Given the description of an element on the screen output the (x, y) to click on. 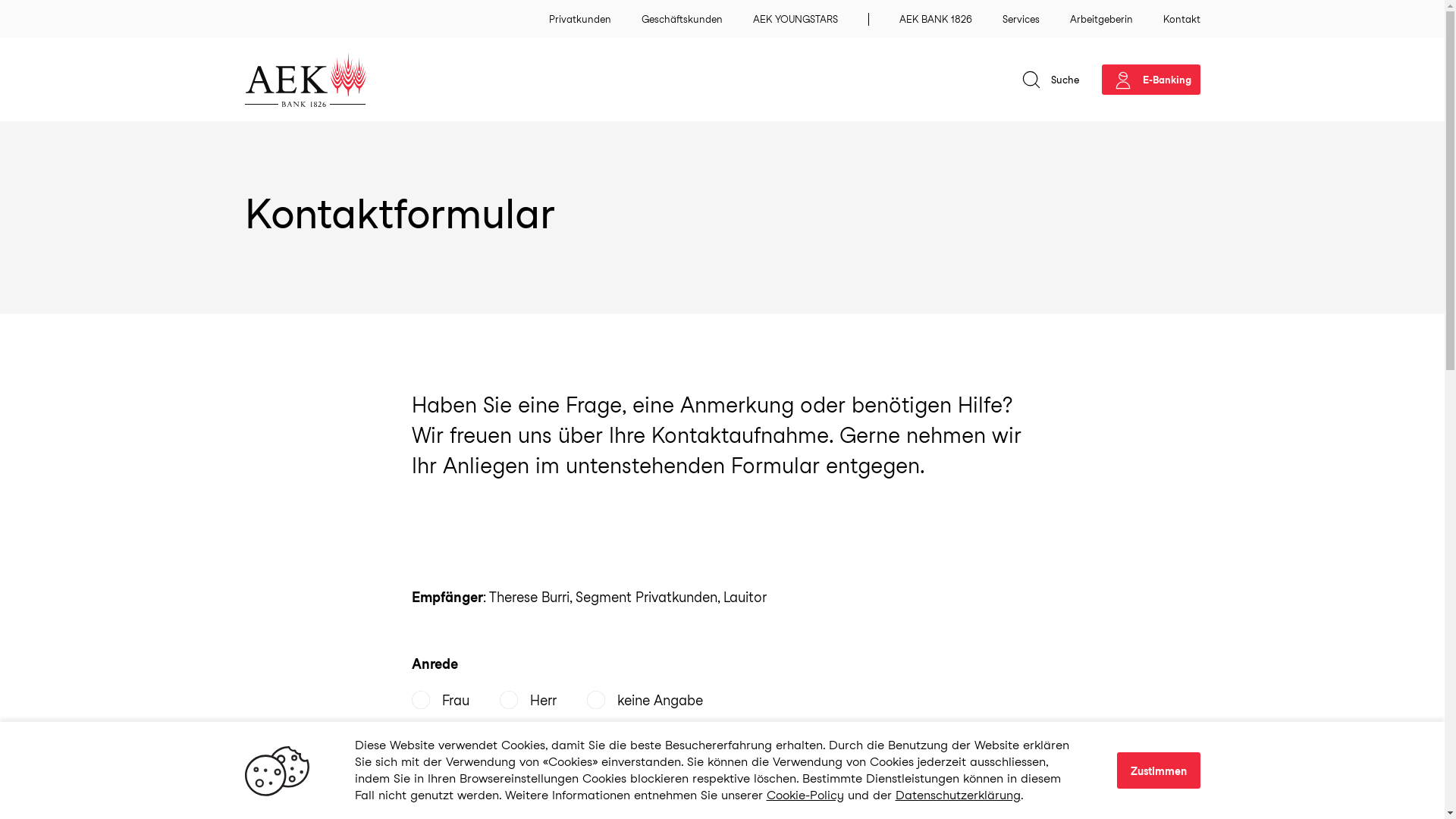
Services Element type: text (1020, 19)
AEK BANK 1826 Element type: text (935, 19)
Kontakt Element type: text (1181, 19)
Zustimmen Element type: text (1157, 770)
Privatkunden Element type: text (580, 19)
Suche Element type: text (1049, 79)
E-Banking Element type: text (1150, 79)
AEK YOUNGSTARS Element type: text (794, 19)
Cookie-Policy Element type: text (804, 794)
Arbeitgeberin Element type: text (1100, 19)
Kontakt Element type: text (1361, 755)
